Given the description of an element on the screen output the (x, y) to click on. 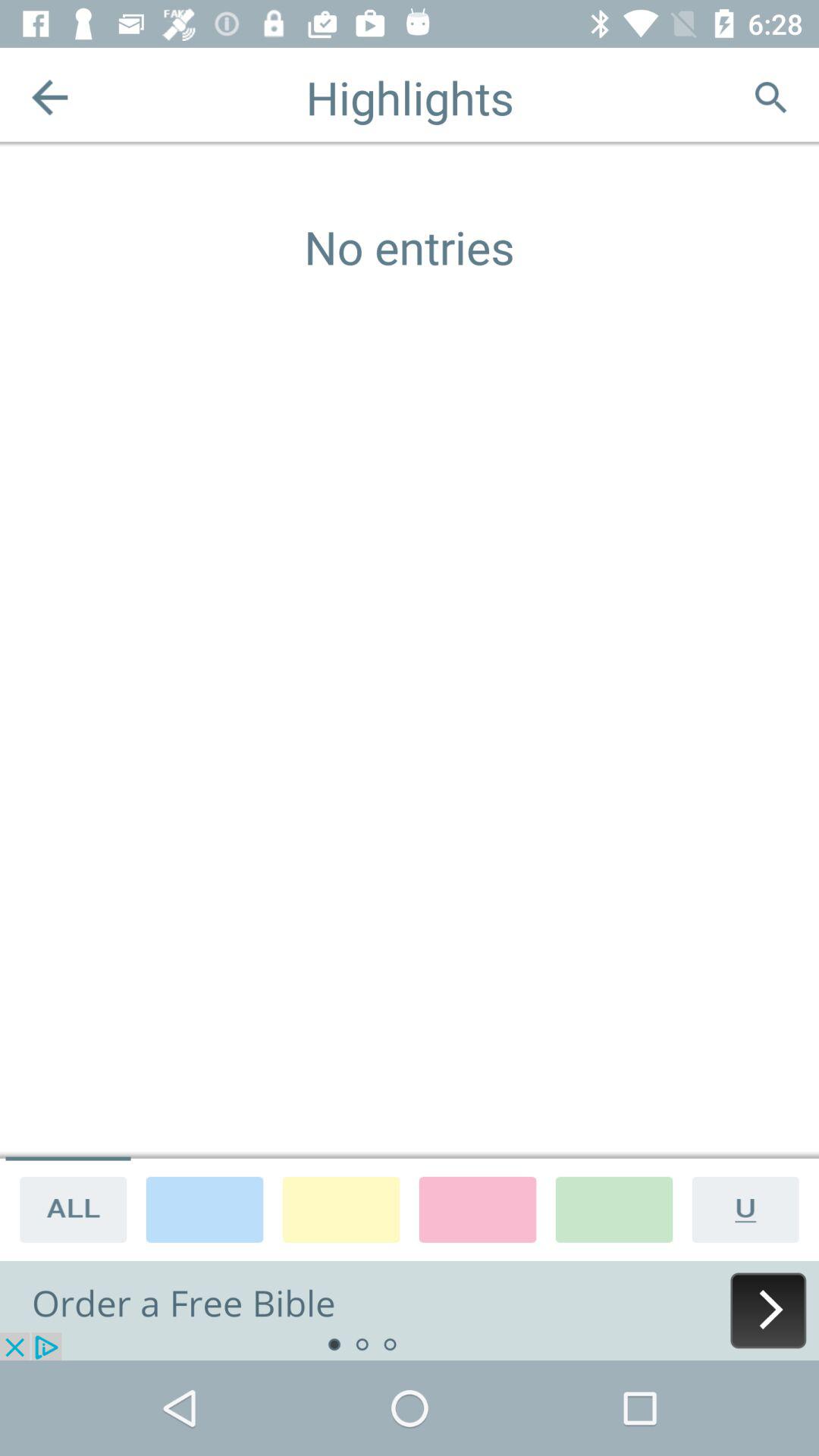
select pink color (477, 1208)
